Given the description of an element on the screen output the (x, y) to click on. 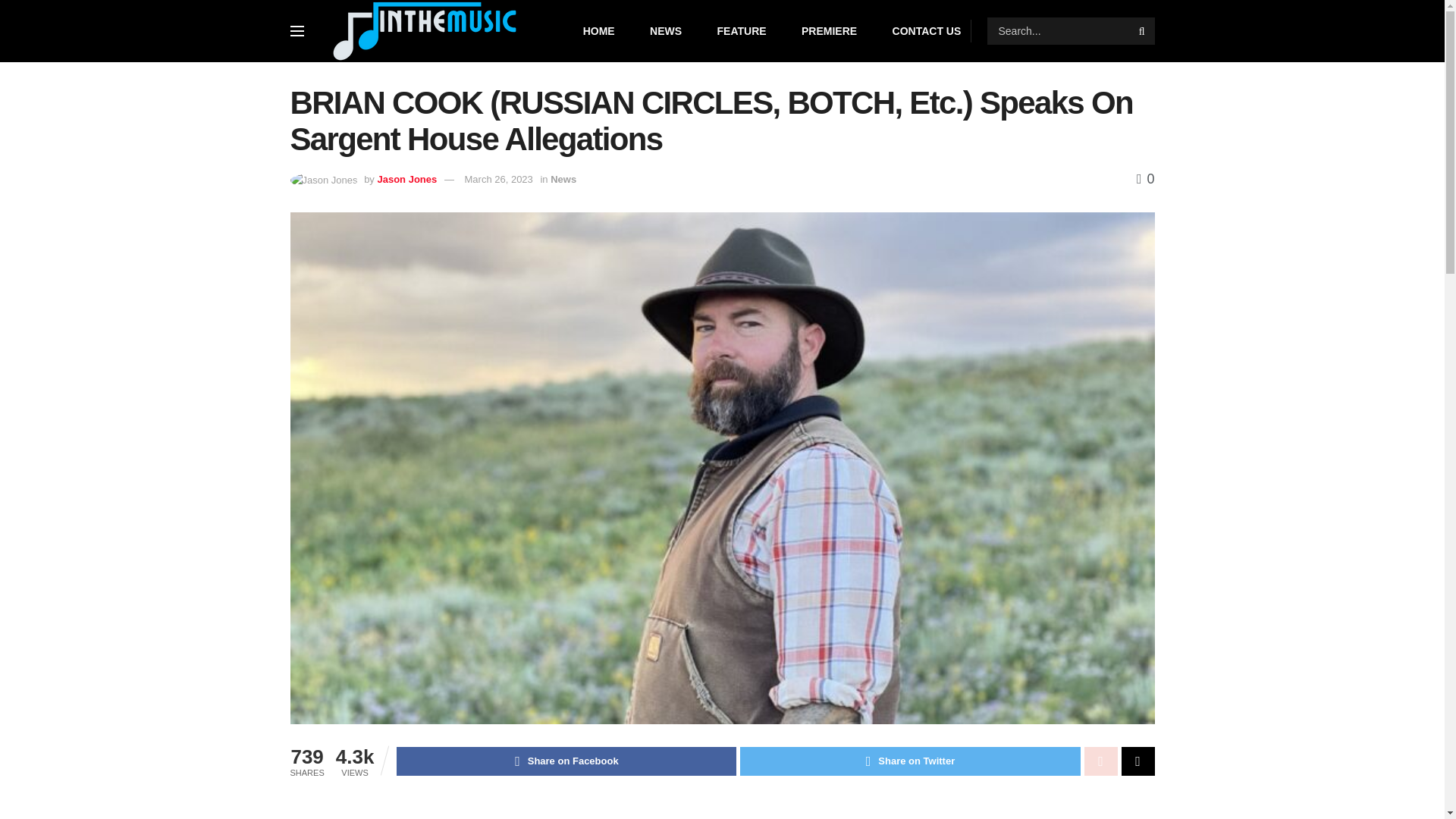
PREMIERE (829, 30)
FEATURE (742, 30)
CONTACT US (926, 30)
HOME (598, 30)
Jason Jones (406, 179)
Share on Twitter (909, 760)
March 26, 2023 (498, 179)
News (563, 179)
NEWS (665, 30)
0 (1145, 178)
Share on Facebook (566, 760)
